Given the description of an element on the screen output the (x, y) to click on. 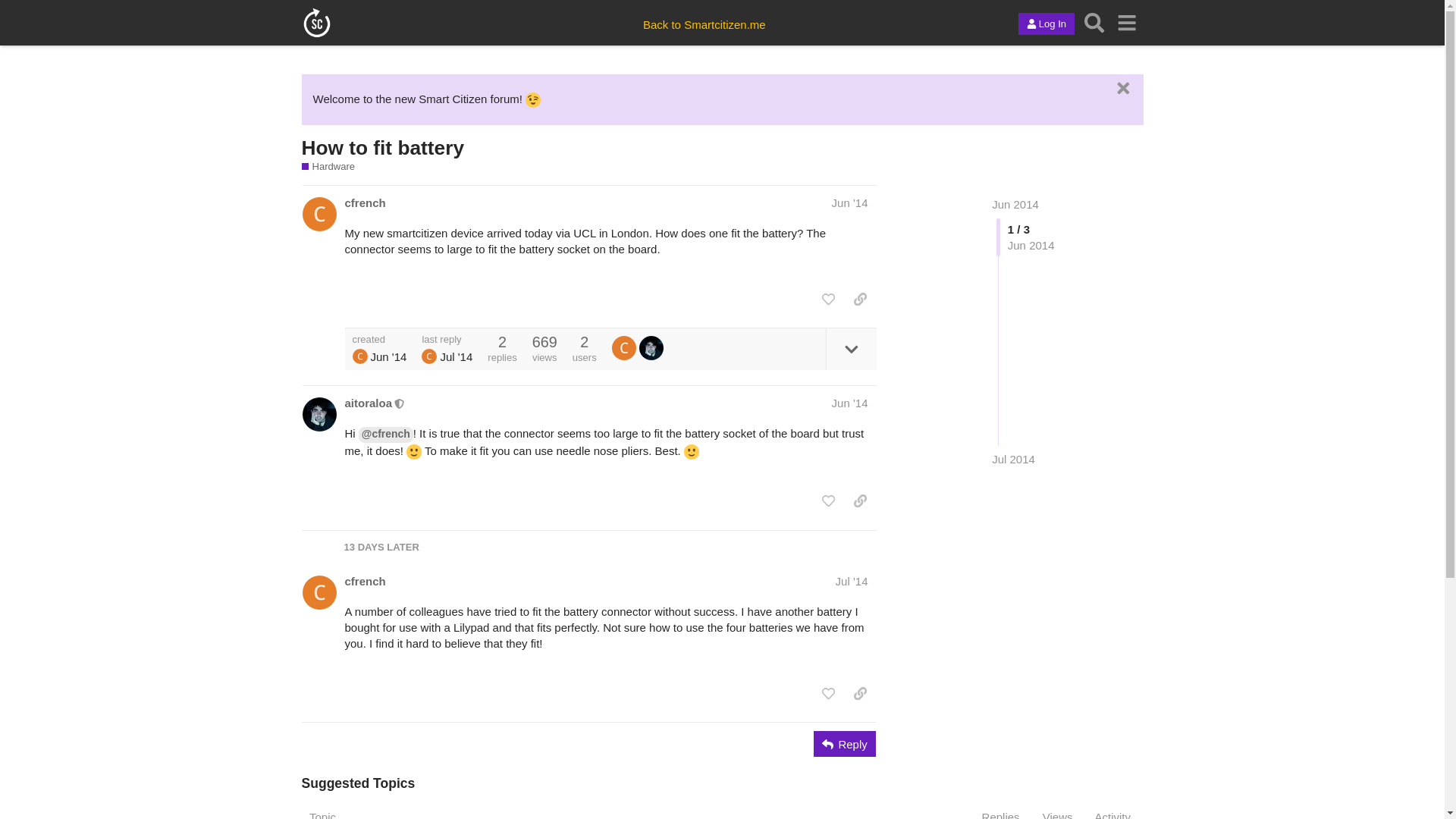
Cfrench (429, 355)
cfrench (364, 580)
expand topic details (850, 349)
Cfrench (623, 347)
Jun 2014 (1015, 204)
like this post (828, 299)
Jun 2014 (1015, 204)
menu (1126, 22)
share a link to this post (860, 299)
Jun 26, 2014 5:46 am (849, 202)
